Given the description of an element on the screen output the (x, y) to click on. 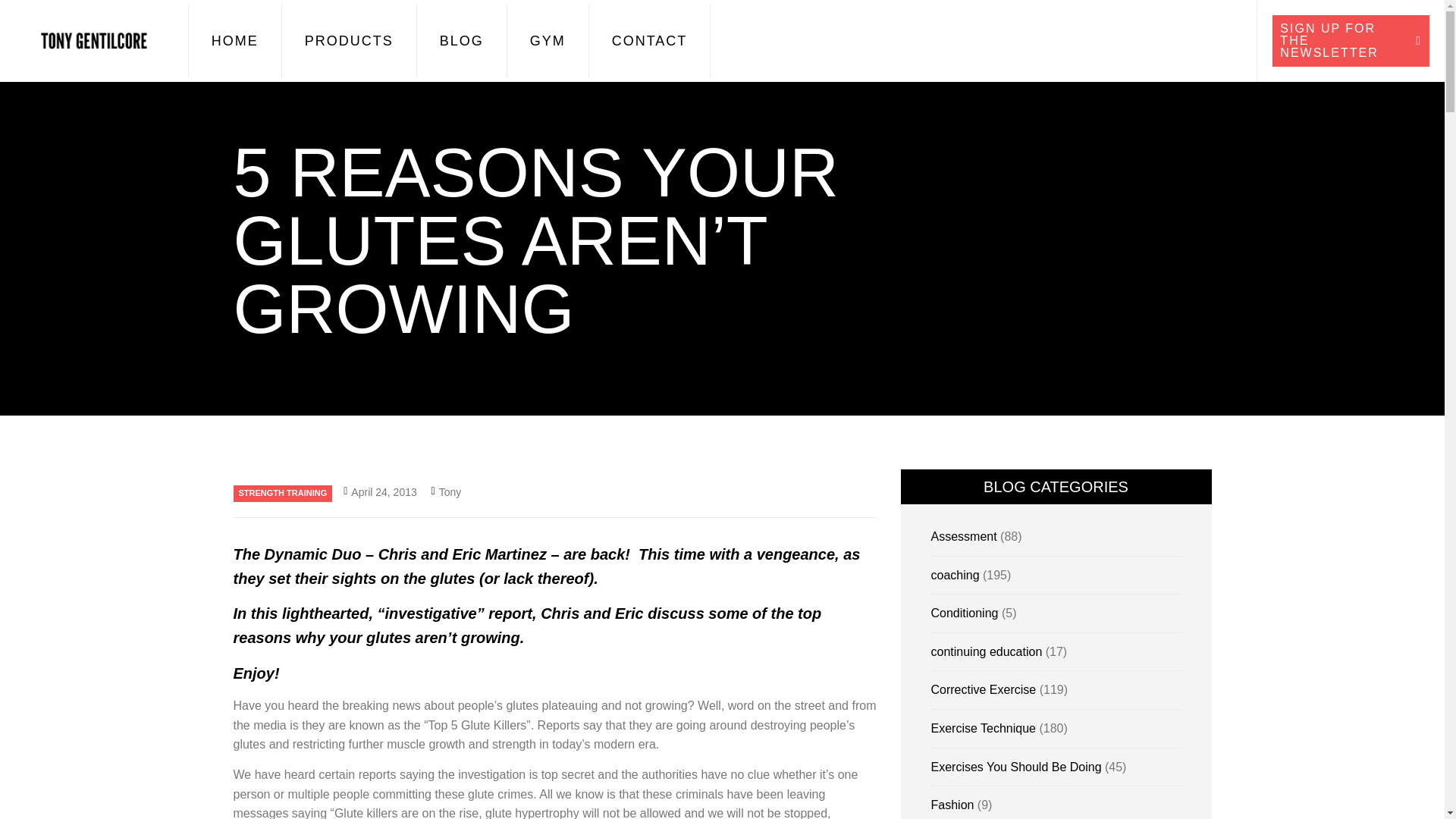
Tony (445, 491)
HOME (235, 40)
Conditioning (964, 612)
Assessment (964, 535)
coaching (955, 574)
Corrective Exercise (983, 689)
GYM (547, 40)
STRENGTH TRAINING (282, 493)
CONTACT (649, 40)
PRODUCTS (349, 40)
SIGN UP FOR THE NEWSLETTER (1350, 40)
continuing education (986, 651)
BLOG (461, 40)
April 24, 2013 (379, 491)
